Given the description of an element on the screen output the (x, y) to click on. 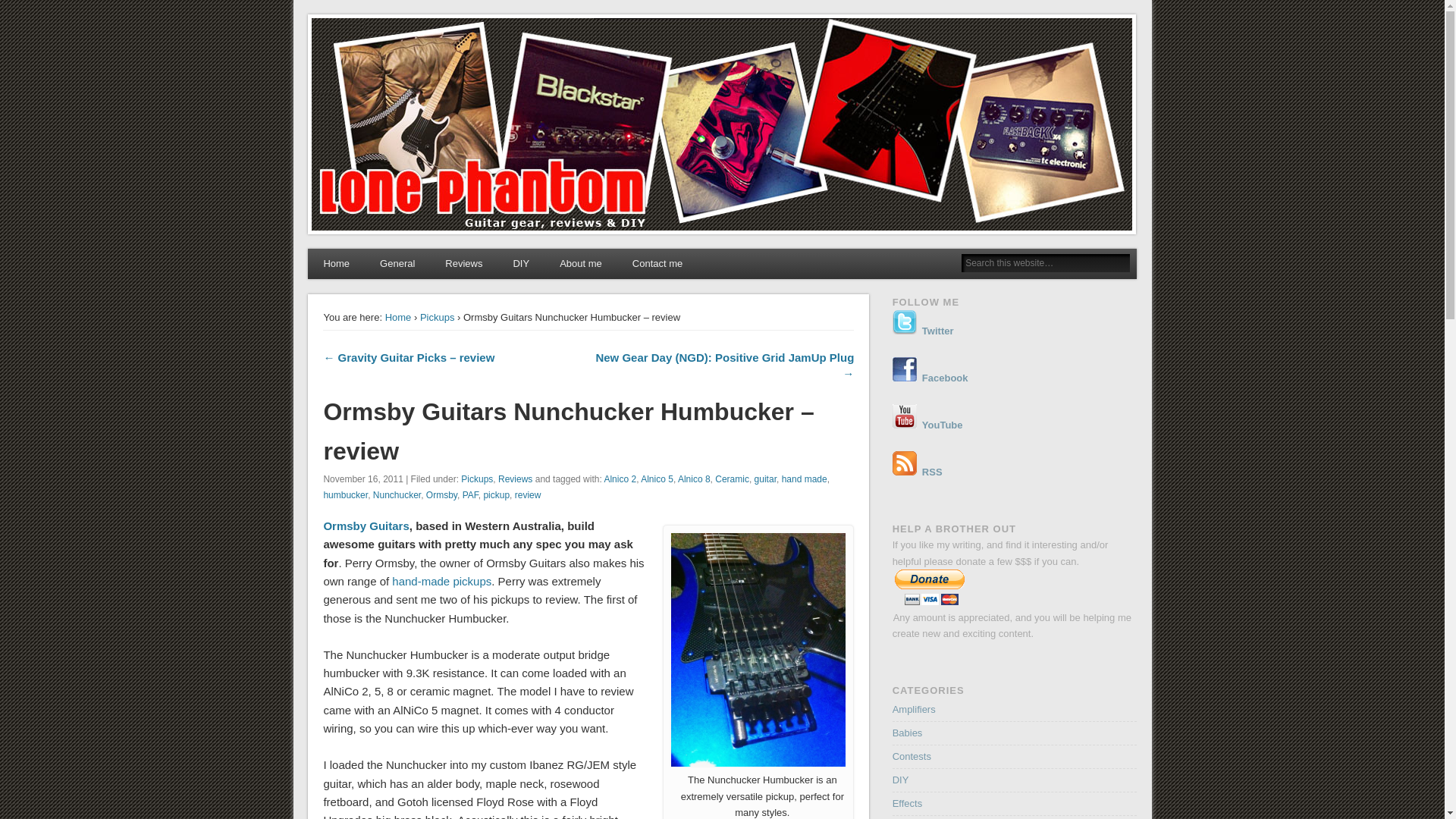
pickup (496, 494)
DIY (520, 263)
Nunchucker (396, 494)
Pickups (437, 317)
About me (580, 263)
General (397, 263)
Ormsby Guitars Nunchucker Humbucker (758, 649)
Home (398, 317)
Ceramic (731, 479)
Home (336, 263)
hand-made pickups (441, 581)
Contact me (657, 263)
review (528, 494)
Search (11, 7)
Reviews (514, 479)
